Given the description of an element on the screen output the (x, y) to click on. 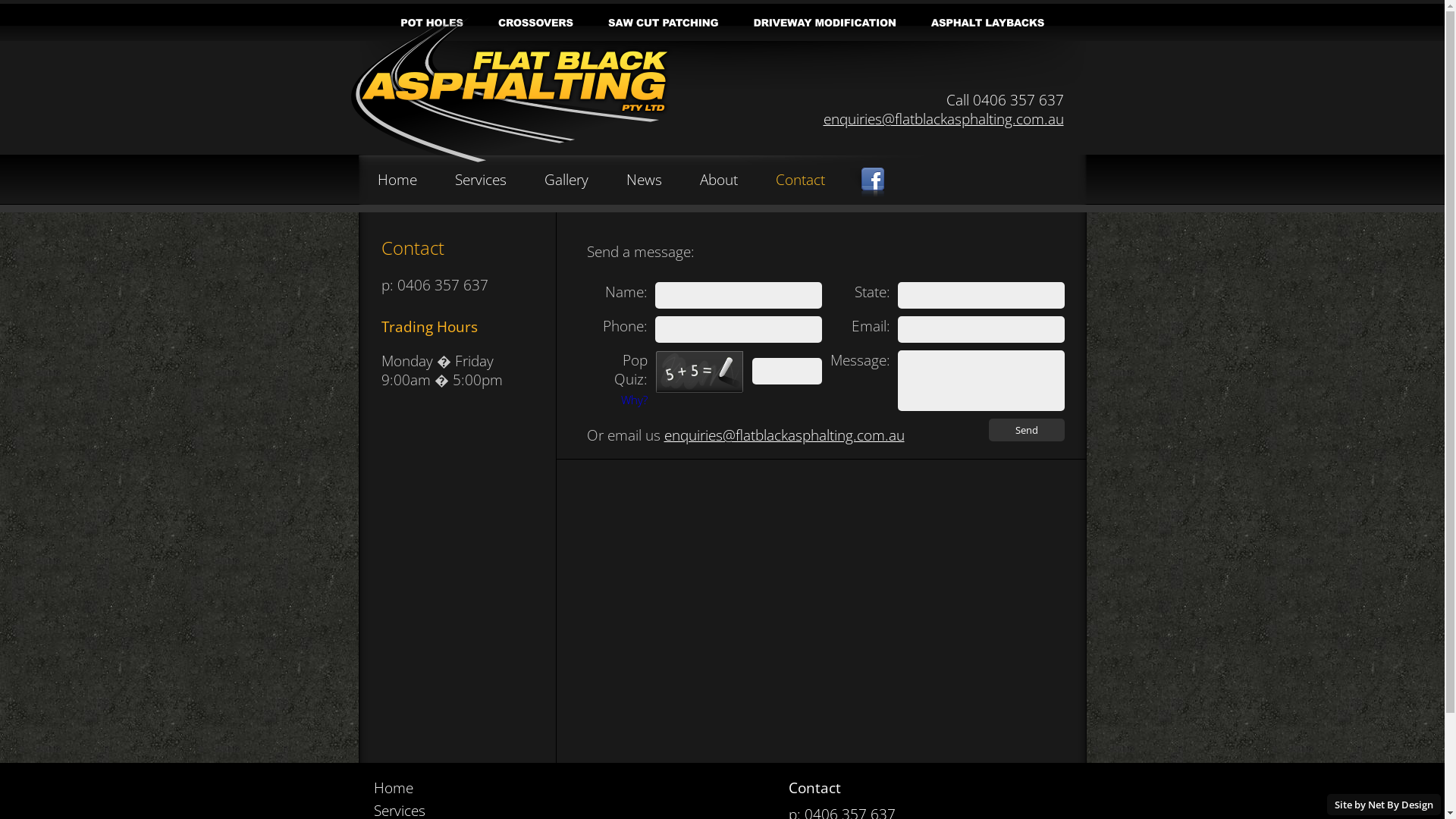
Services Element type: text (480, 179)
News Element type: text (644, 179)
Contact Element type: text (799, 179)
enquiries@flatblackasphalting.com.au Element type: text (784, 434)
Site by Net By Design Element type: text (1383, 804)
Home Element type: text (397, 179)
Gallery Element type: text (566, 179)
Home Element type: text (398, 787)
Send Element type: text (1026, 429)
Facebook Element type: hover (866, 184)
enquiries@flatblackasphalting.com.au Element type: text (943, 118)
About Element type: text (718, 179)
